Given the description of an element on the screen output the (x, y) to click on. 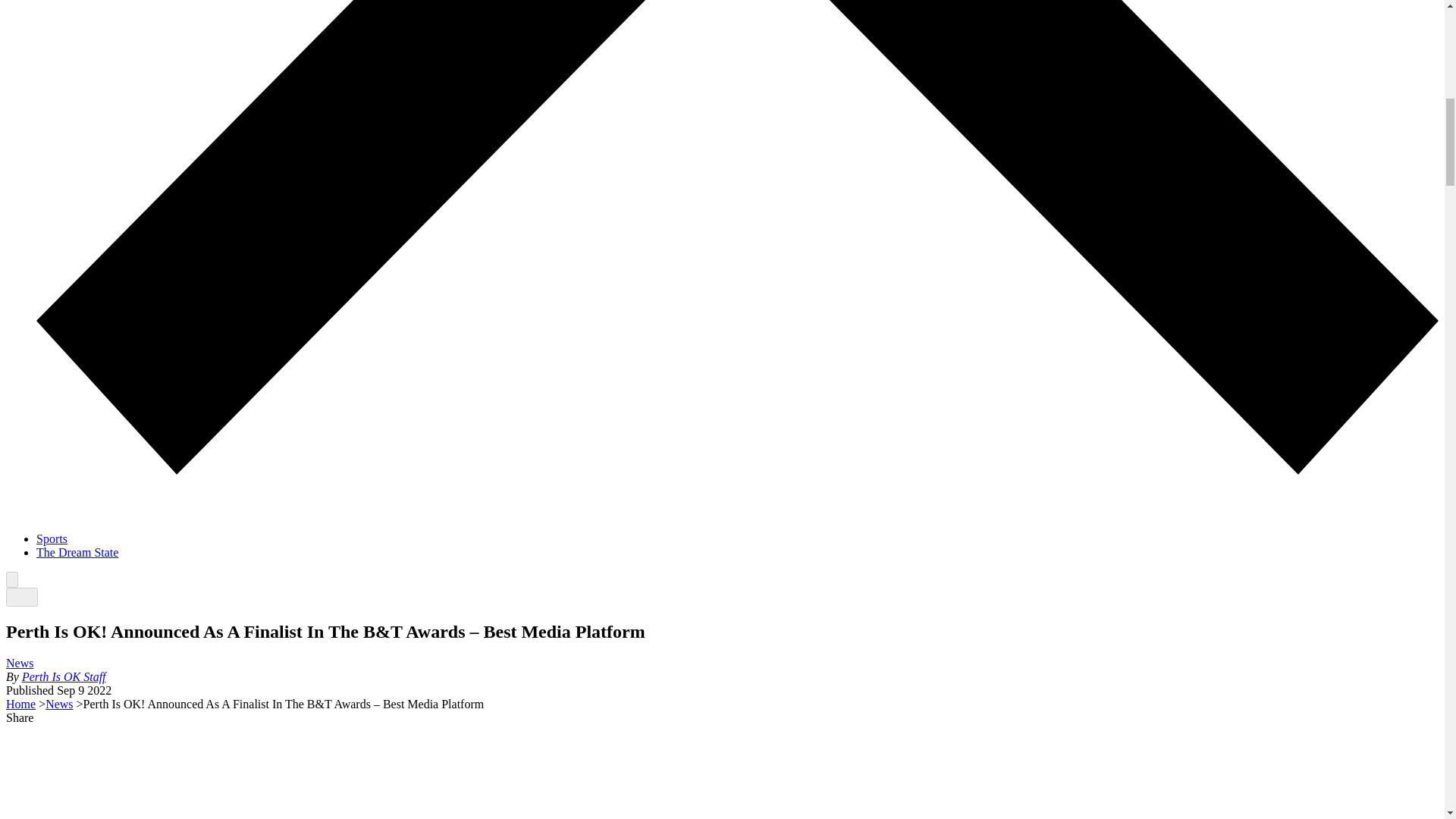
News (19, 662)
Sports (51, 538)
News (58, 703)
Perth Is OK Staff (63, 676)
Home (19, 703)
The Dream State (76, 552)
